Given the description of an element on the screen output the (x, y) to click on. 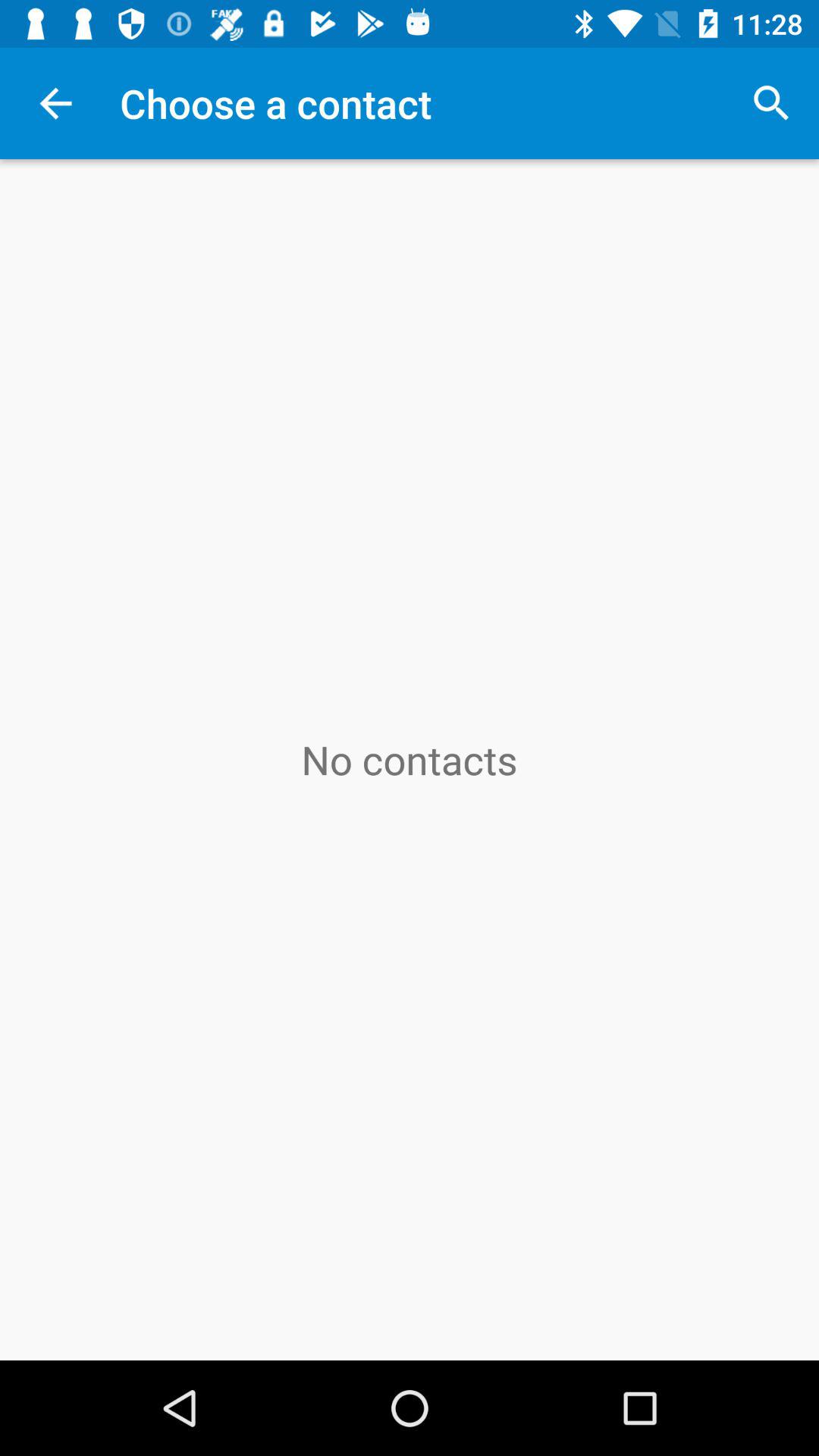
tap the icon to the right of the choose a contact app (771, 103)
